Given the description of an element on the screen output the (x, y) to click on. 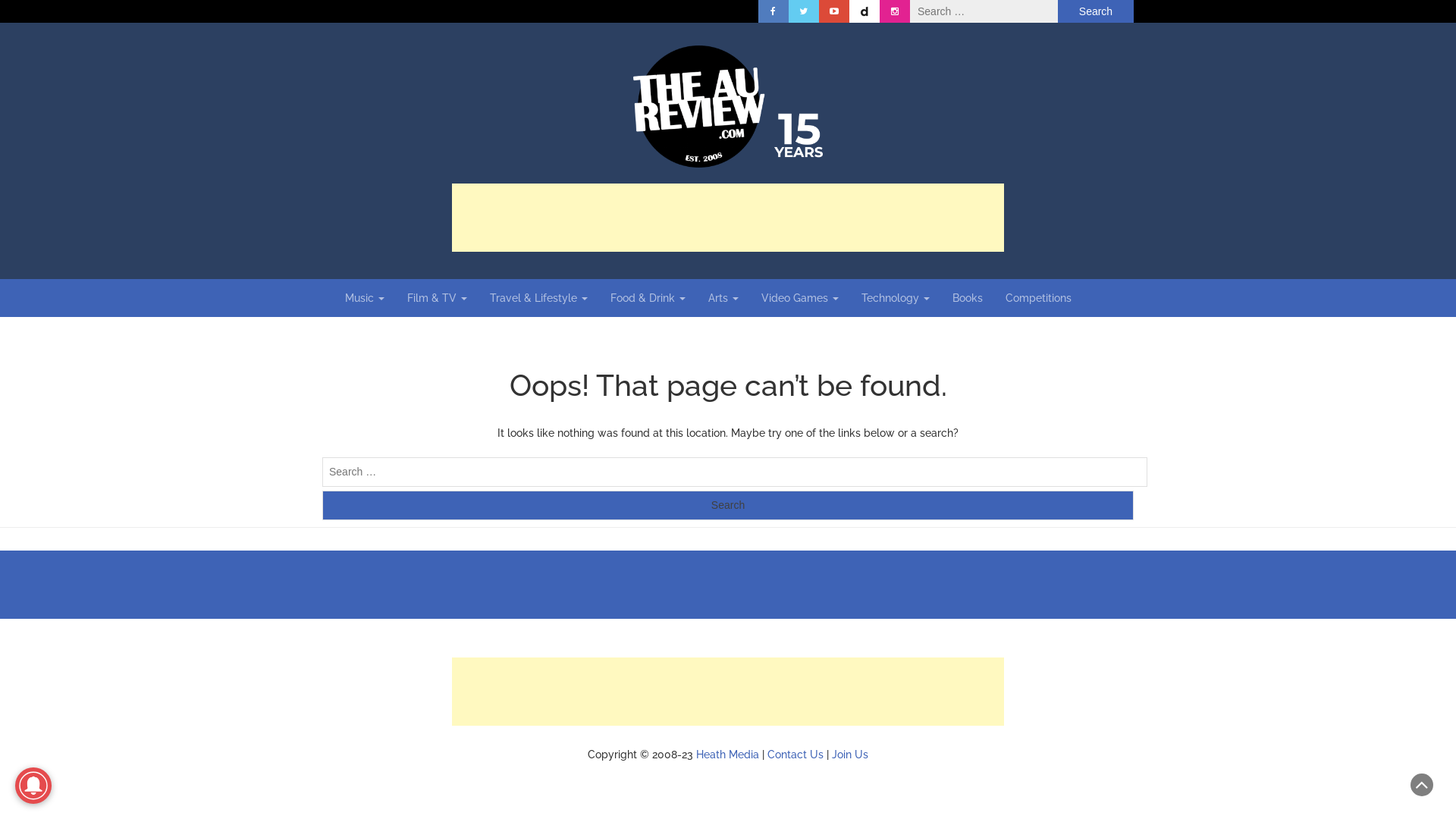
Competitions Element type: text (1038, 297)
Search Element type: text (727, 505)
Music Element type: text (364, 297)
Food & Drink Element type: text (647, 297)
Contact Us Element type: text (795, 754)
Advertisement Element type: hover (727, 691)
Advertisement Element type: hover (727, 217)
Video Games Element type: text (799, 297)
Search Element type: text (1095, 11)
Arts Element type: text (722, 297)
Heath Media Element type: text (727, 754)
Join Us Element type: text (849, 754)
Film & TV Element type: text (436, 297)
Books Element type: text (967, 297)
Travel & Lifestyle Element type: text (538, 297)
Technology Element type: text (895, 297)
